Given the description of an element on the screen output the (x, y) to click on. 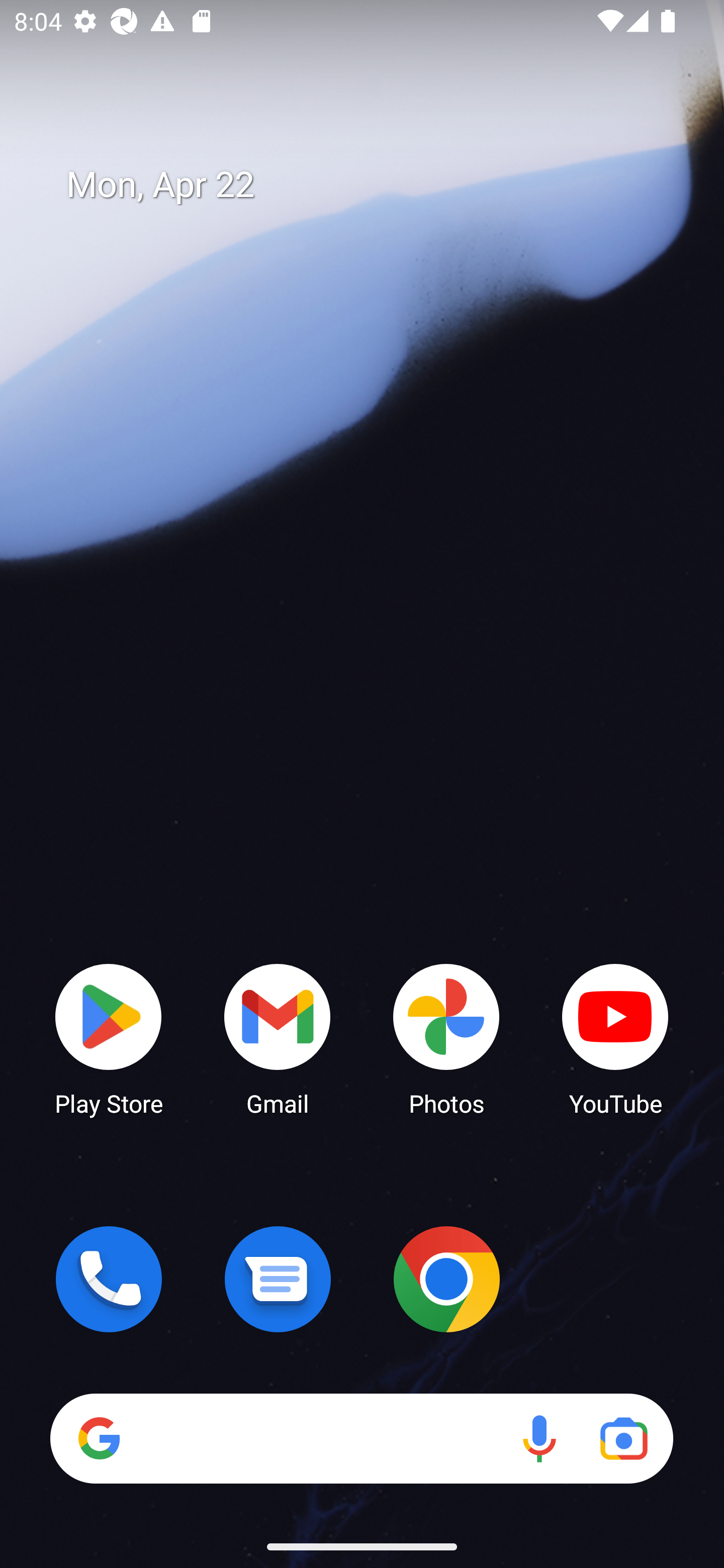
Mon, Apr 22 (375, 184)
Play Store (108, 1038)
Gmail (277, 1038)
Photos (445, 1038)
YouTube (615, 1038)
Phone (108, 1279)
Messages (277, 1279)
Chrome (446, 1279)
Search Voice search Google Lens (361, 1438)
Voice search (539, 1438)
Google Lens (623, 1438)
